Given the description of an element on the screen output the (x, y) to click on. 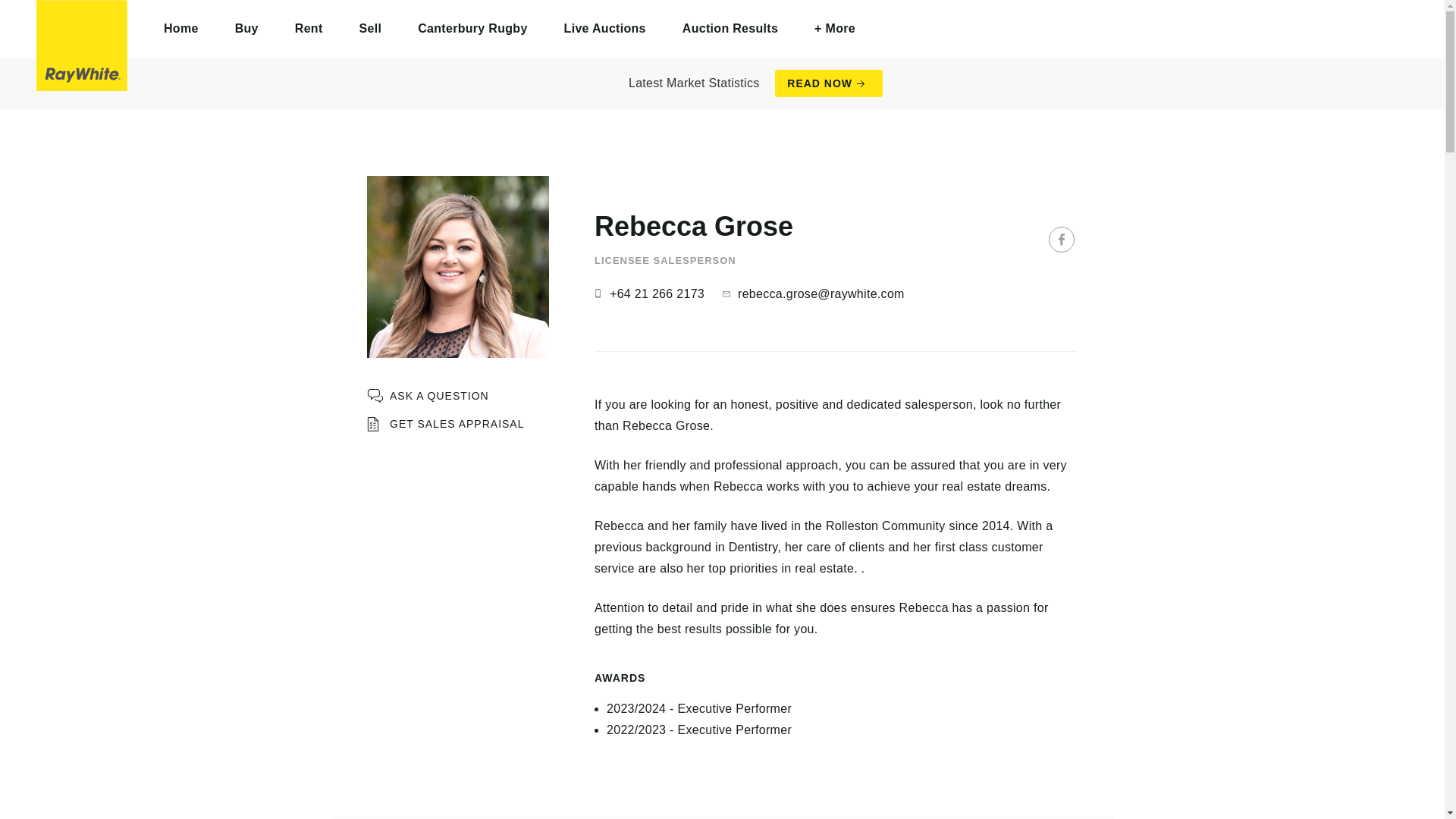
ASK A QUESTION (427, 396)
Canterbury Rugby (471, 28)
GET SALES APPRAISAL (445, 424)
Home (180, 28)
Facebook (1061, 239)
Ray White Canterbury (82, 45)
READ NOW (828, 83)
Live Auctions (604, 28)
Auction Results (729, 28)
